Given the description of an element on the screen output the (x, y) to click on. 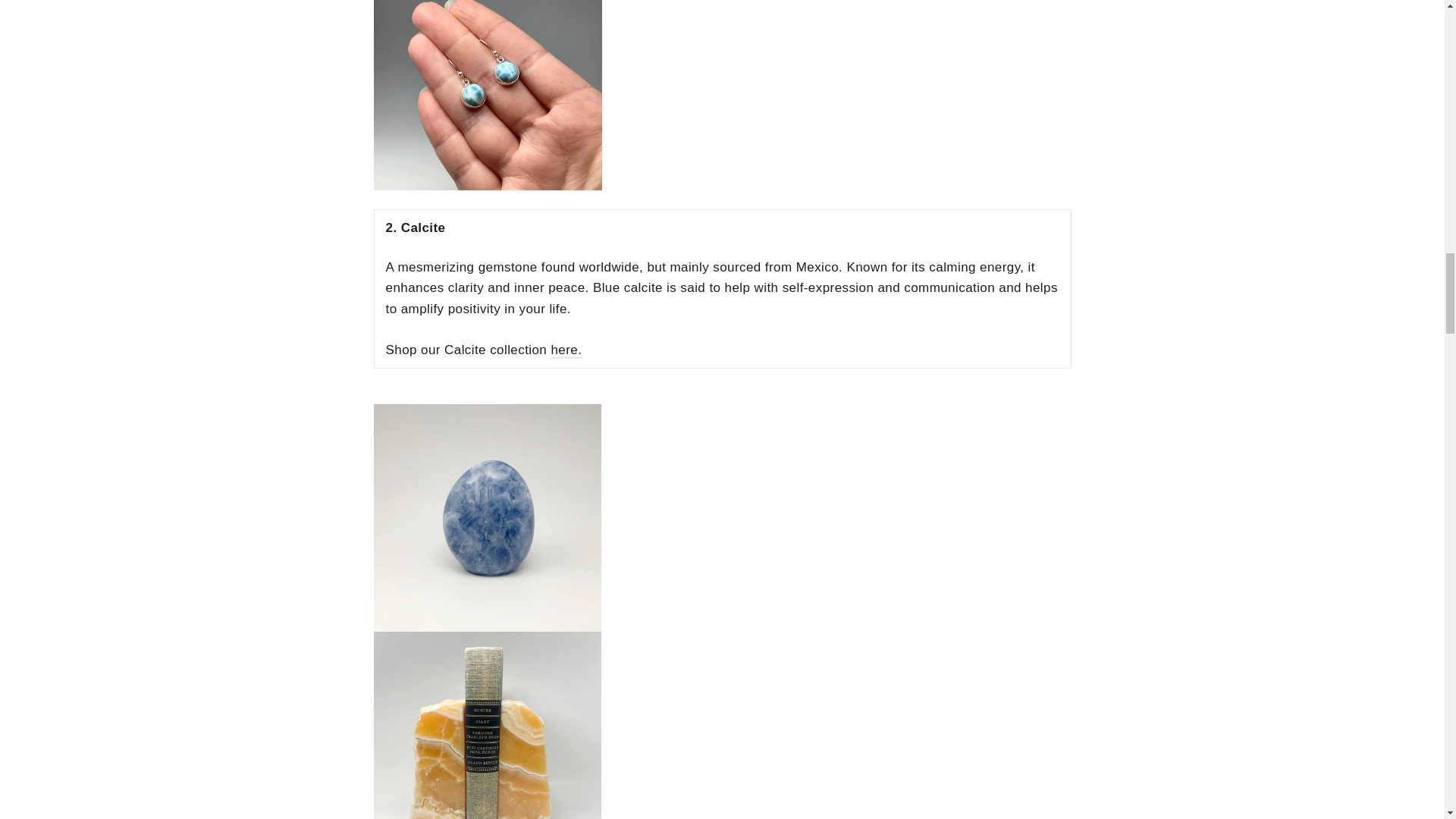
Calcite Collection (565, 350)
